Given the description of an element on the screen output the (x, y) to click on. 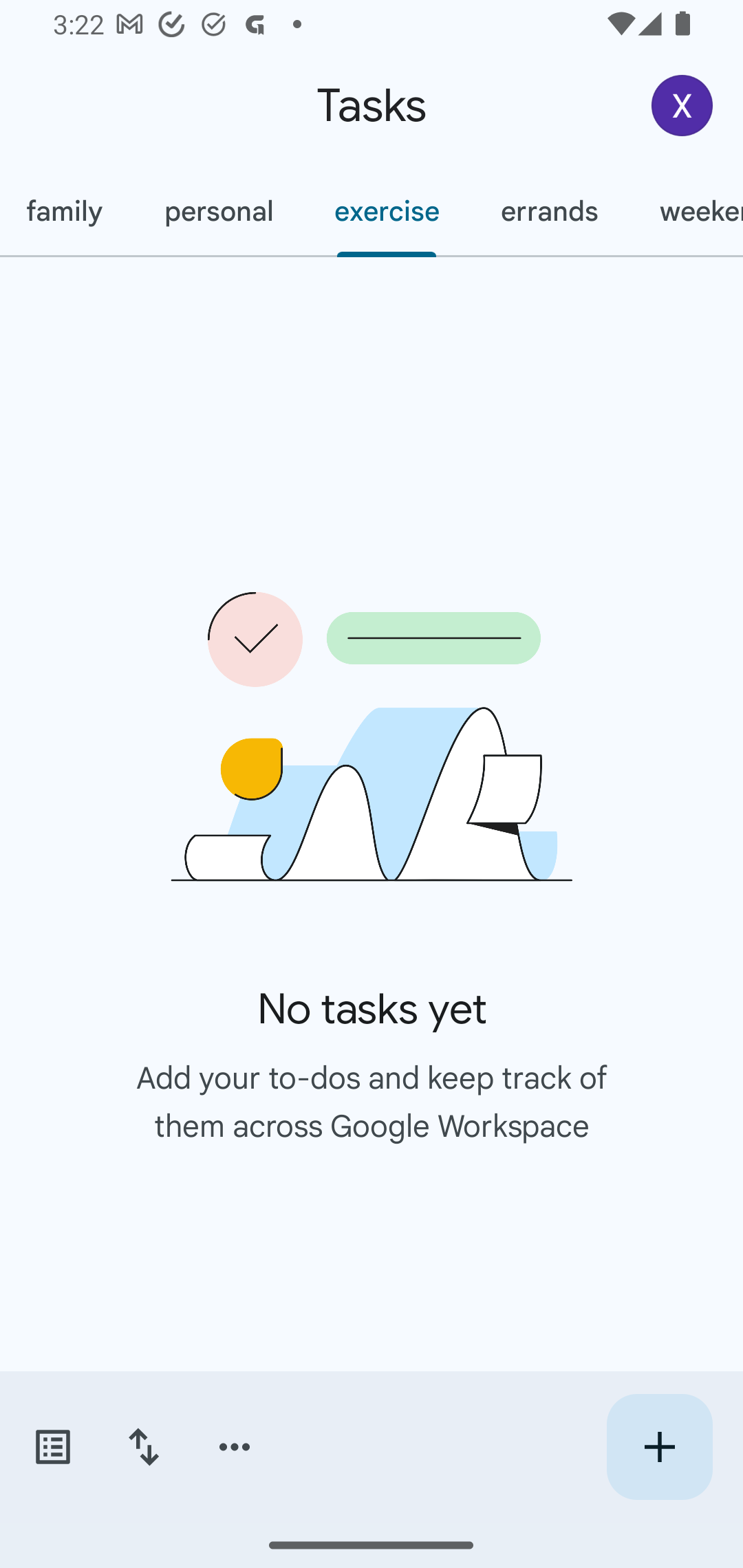
family (66, 211)
personal (218, 211)
errands (548, 211)
weekend (685, 211)
Switch task lists (52, 1447)
Create new task (659, 1446)
Change sort order (143, 1446)
More options (234, 1446)
